Given the description of an element on the screen output the (x, y) to click on. 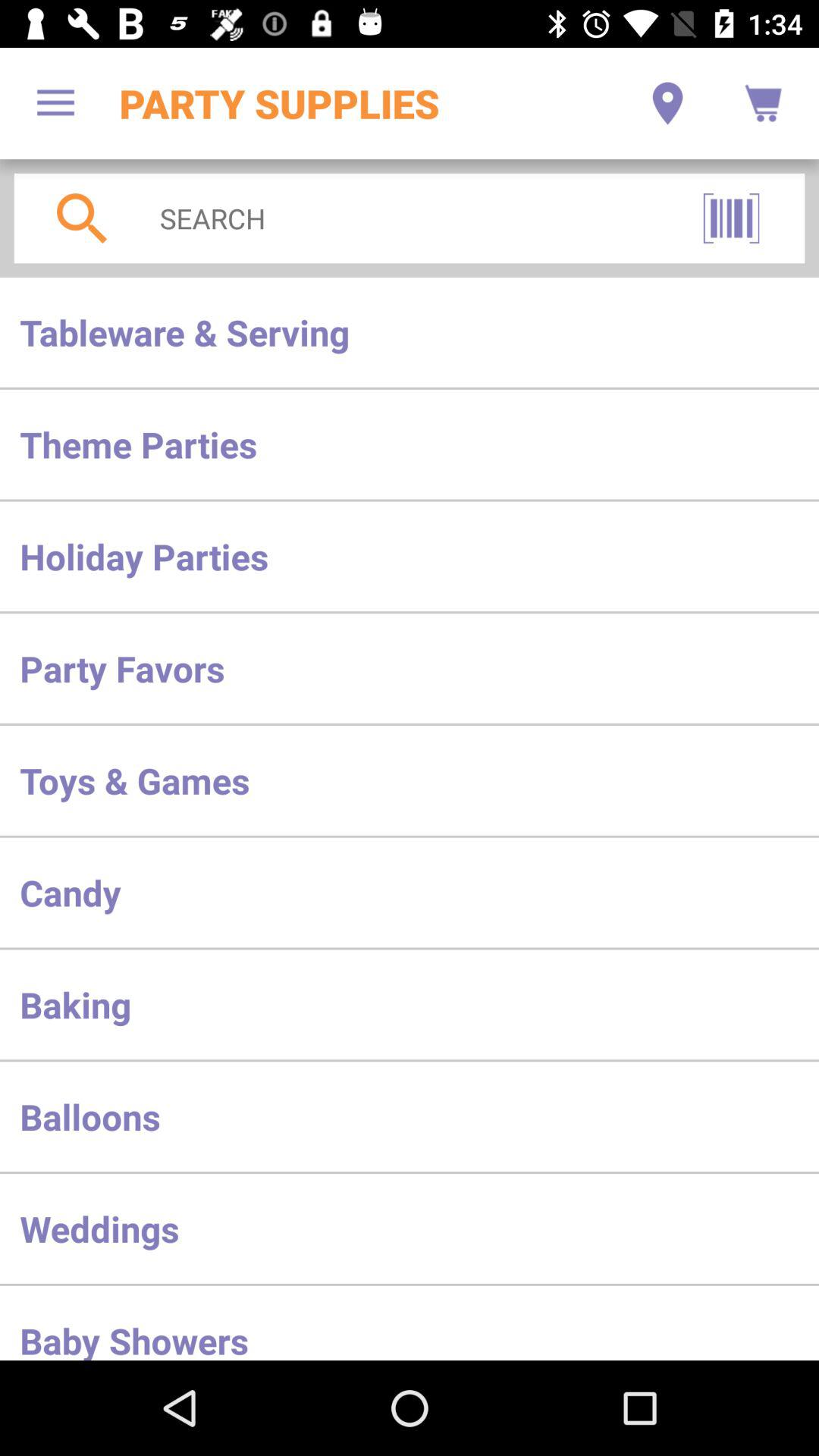
scroll until the baby showers (409, 1322)
